Given the description of an element on the screen output the (x, y) to click on. 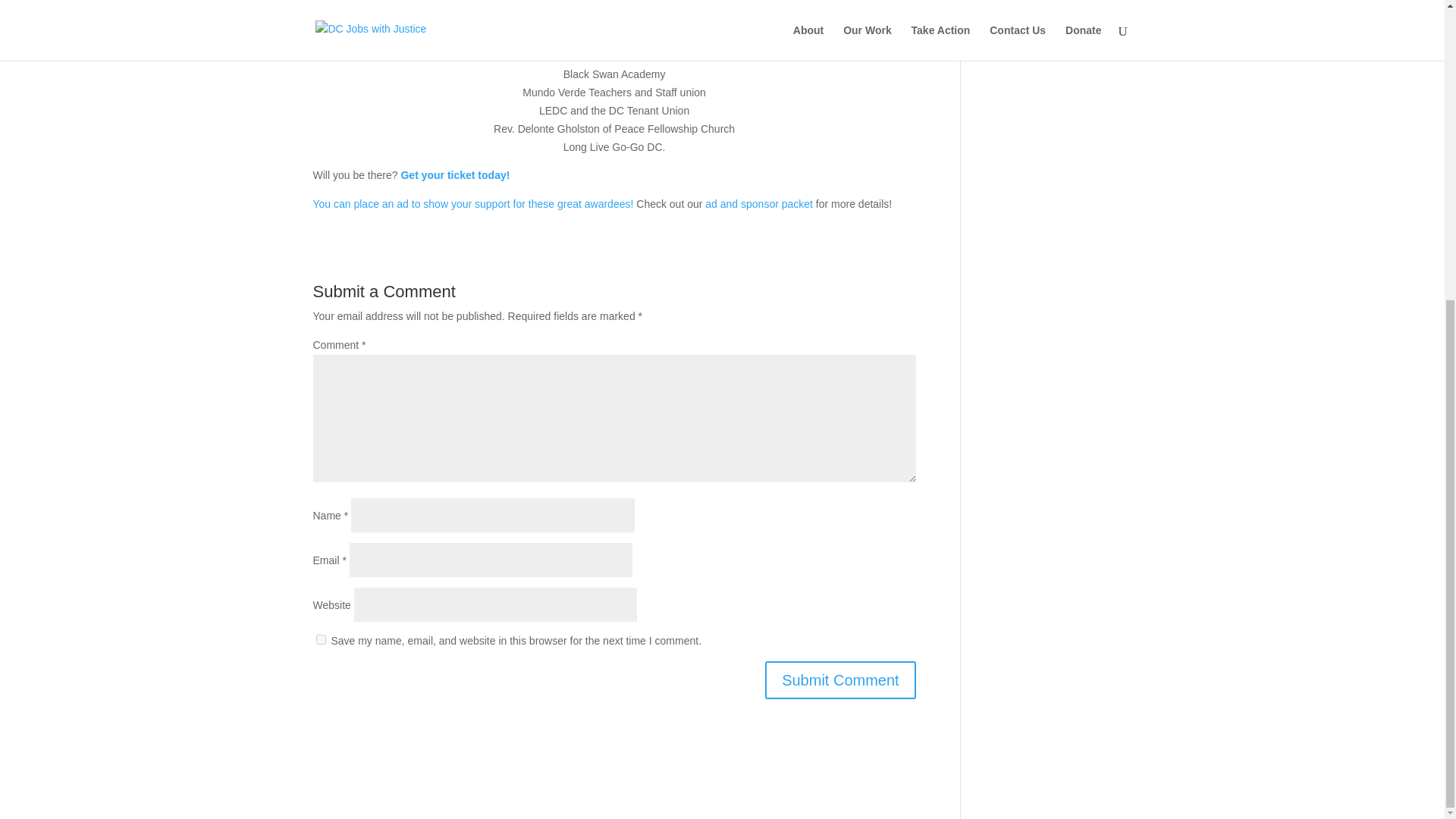
Submit Comment (840, 679)
Get your ticket today! (454, 174)
yes (319, 639)
Submit Comment (840, 679)
ad and sponsor packet (758, 203)
